Given the description of an element on the screen output the (x, y) to click on. 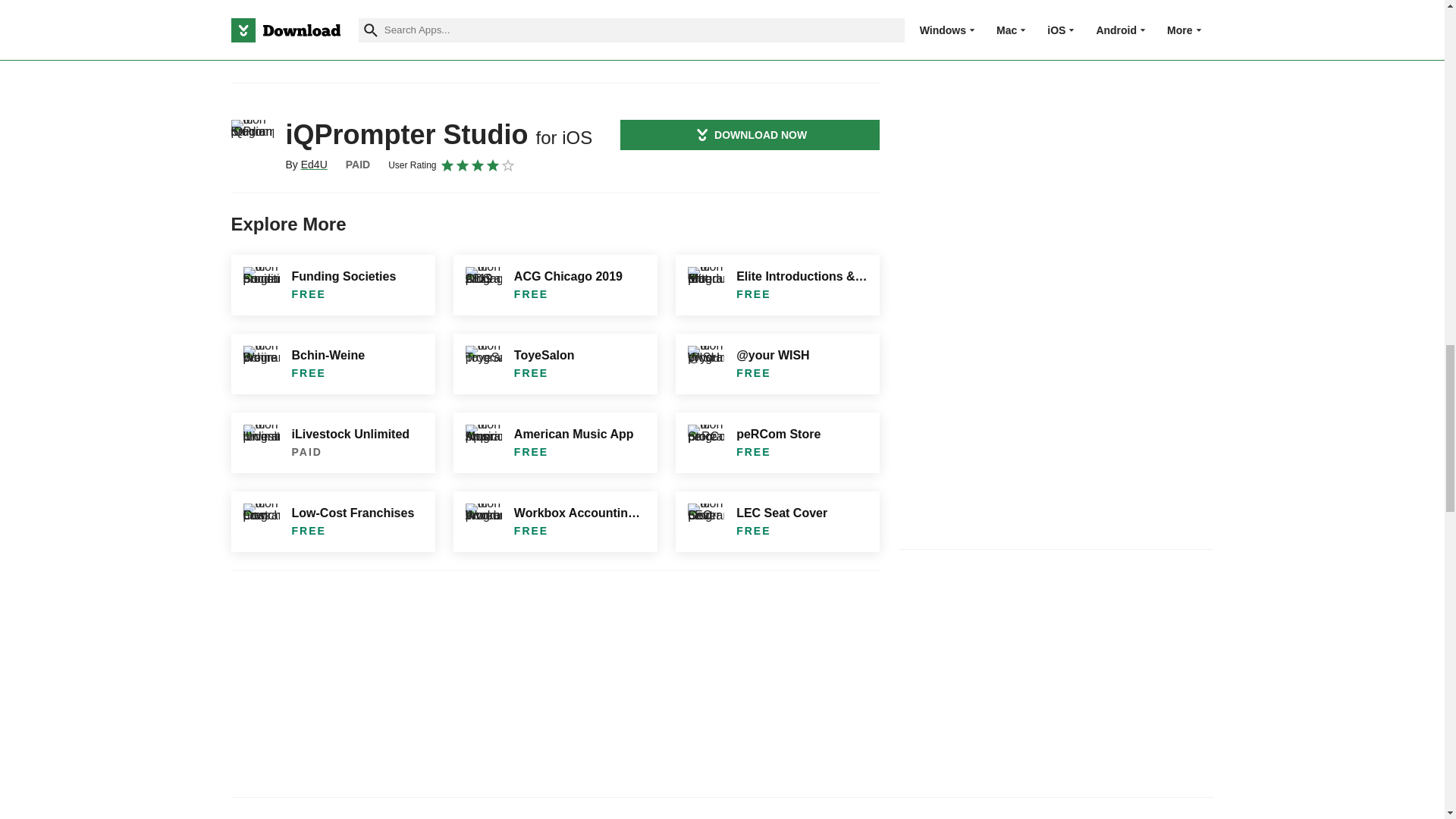
LEC Seat Cover (777, 521)
Funding Societies (331, 284)
peRCom Store (777, 442)
iLivestock Unlimited (331, 442)
ACG Chicago 2019 (555, 284)
Low-Cost Franchises (331, 521)
ToyeSalon (555, 363)
Bchin-Weine (331, 363)
American Music App (555, 442)
iQPrompter Studio for iOS (251, 140)
